Given the description of an element on the screen output the (x, y) to click on. 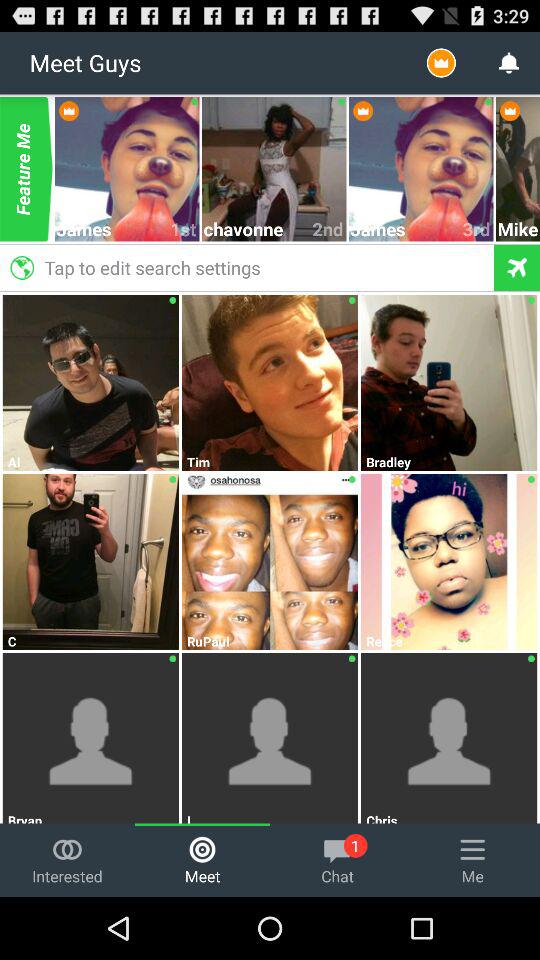
flip until mike atienzo item (518, 228)
